Given the description of an element on the screen output the (x, y) to click on. 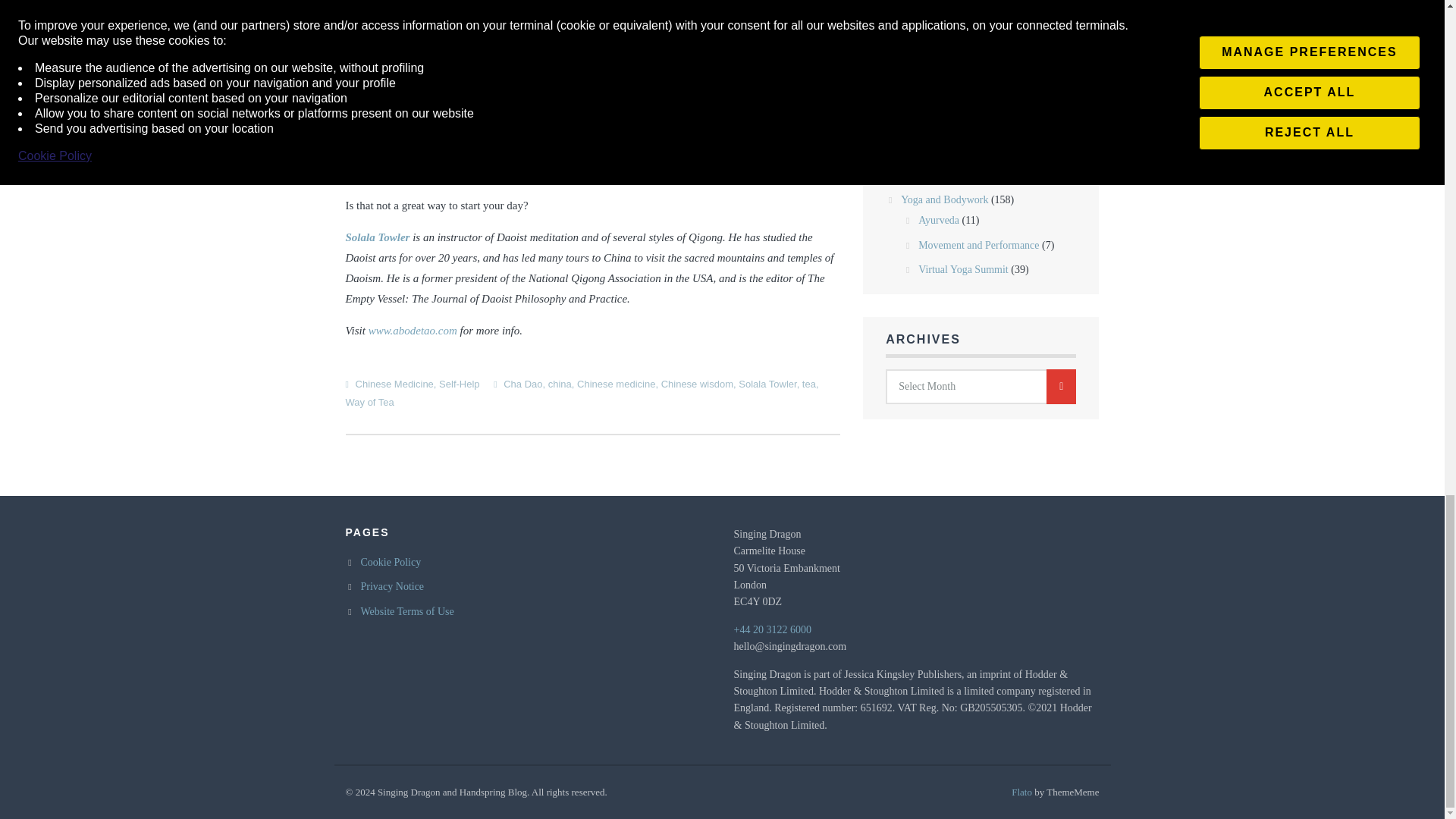
Chinese medicine (615, 383)
Way of Tea (370, 401)
Chinese wisdom (697, 383)
Cha Dao (522, 383)
Chinese Medicine (394, 383)
www.abodetao.com (412, 330)
tea (808, 383)
Self-Help (459, 383)
Solala Towler (767, 383)
china (560, 383)
Solala Towler (378, 236)
